Given the description of an element on the screen output the (x, y) to click on. 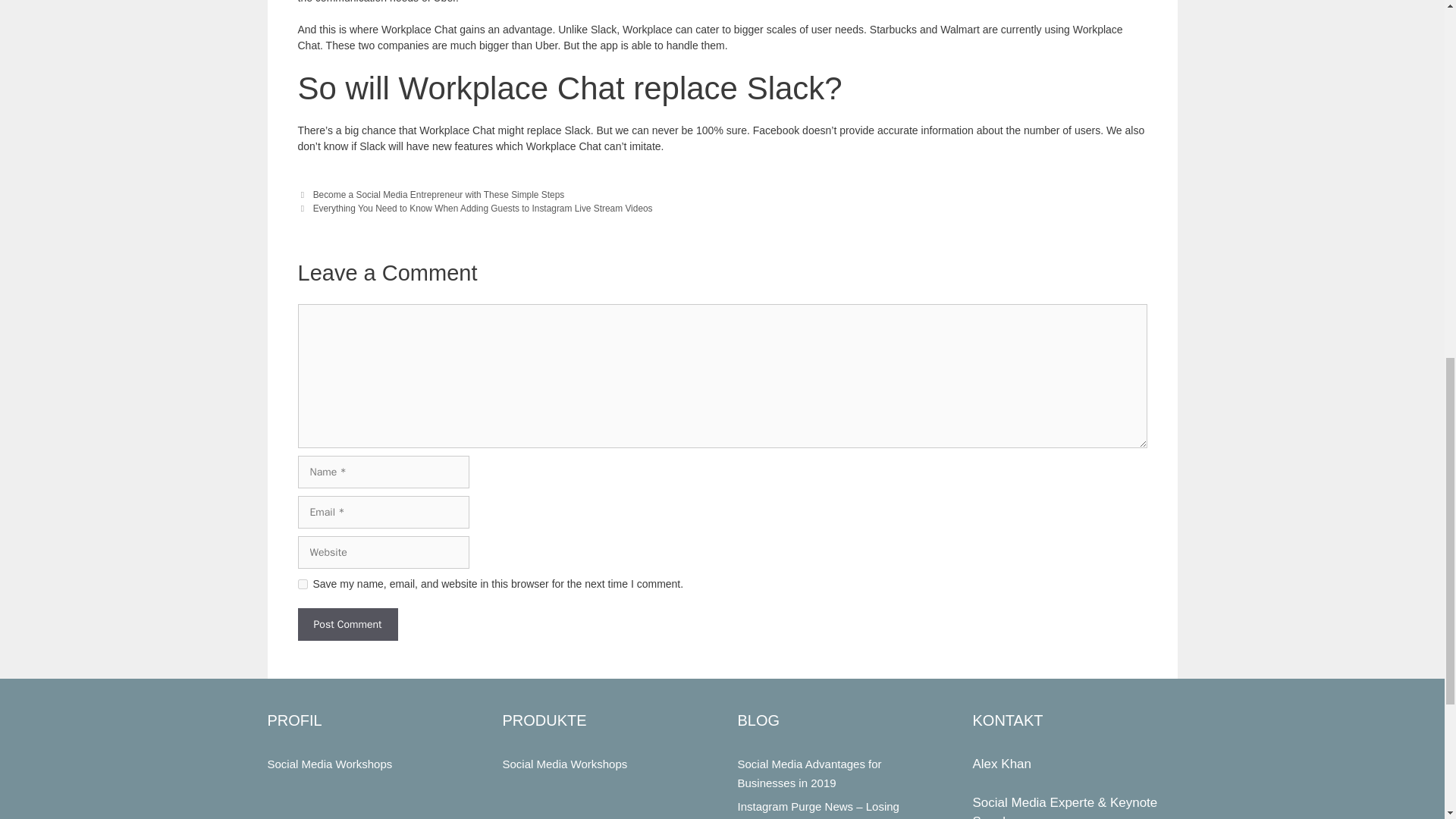
Become a Social Media Entrepreneur with These Simple Steps (438, 194)
Post Comment (347, 624)
Post Comment (347, 624)
yes (302, 583)
Social Media Workshops (328, 763)
